Given the description of an element on the screen output the (x, y) to click on. 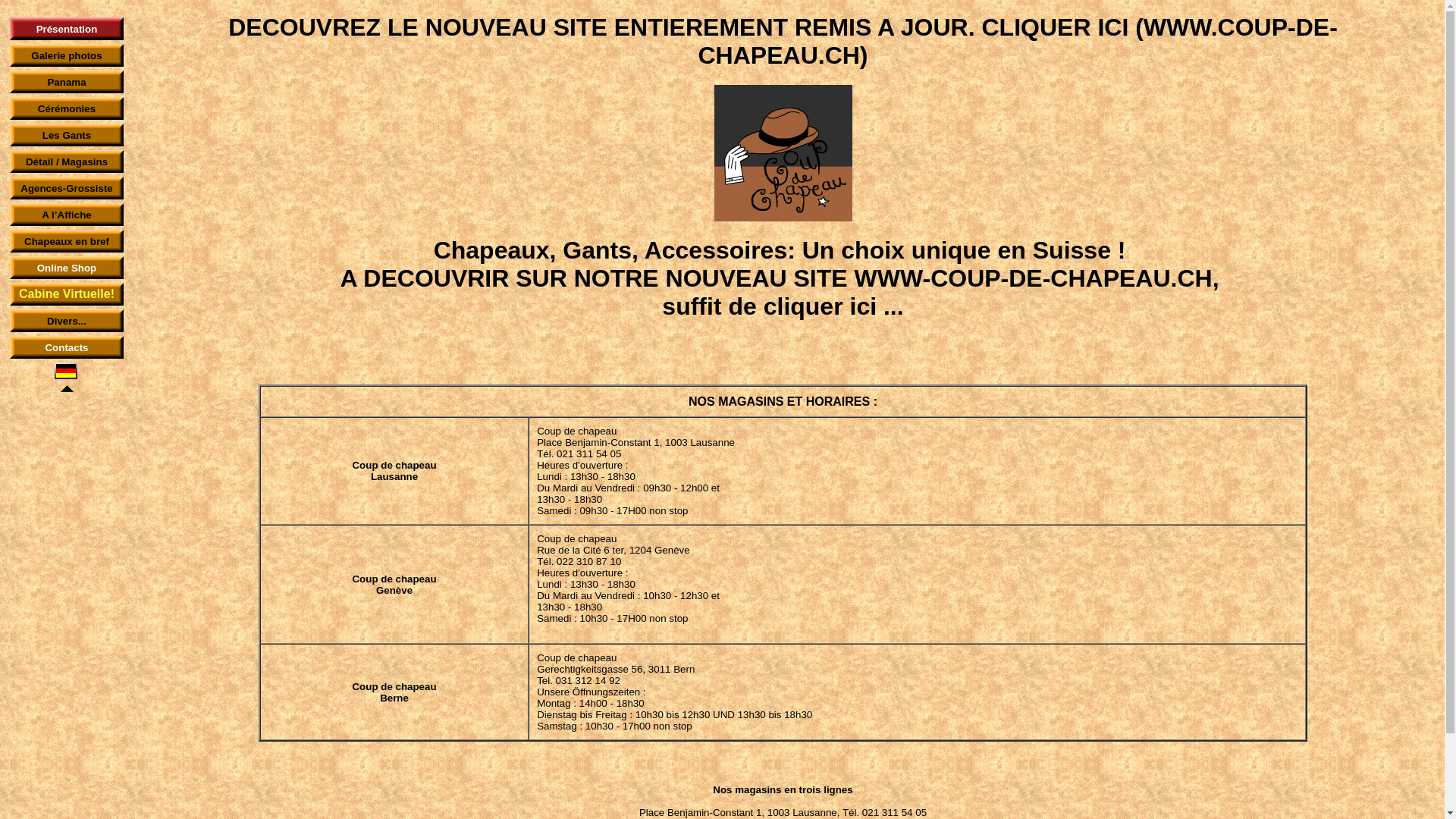
Online Shop Element type: text (67, 267)
Les Gants Element type: text (66, 134)
Galerie photos Element type: text (66, 55)
Contacts Element type: text (65, 346)
Panama Element type: text (66, 81)
Divers... Element type: text (66, 320)
Cabine Virtuelle! Element type: text (66, 294)
Agences-Grossiste Element type: text (66, 187)
Chapeaux en bref Element type: text (66, 240)
